Given the description of an element on the screen output the (x, y) to click on. 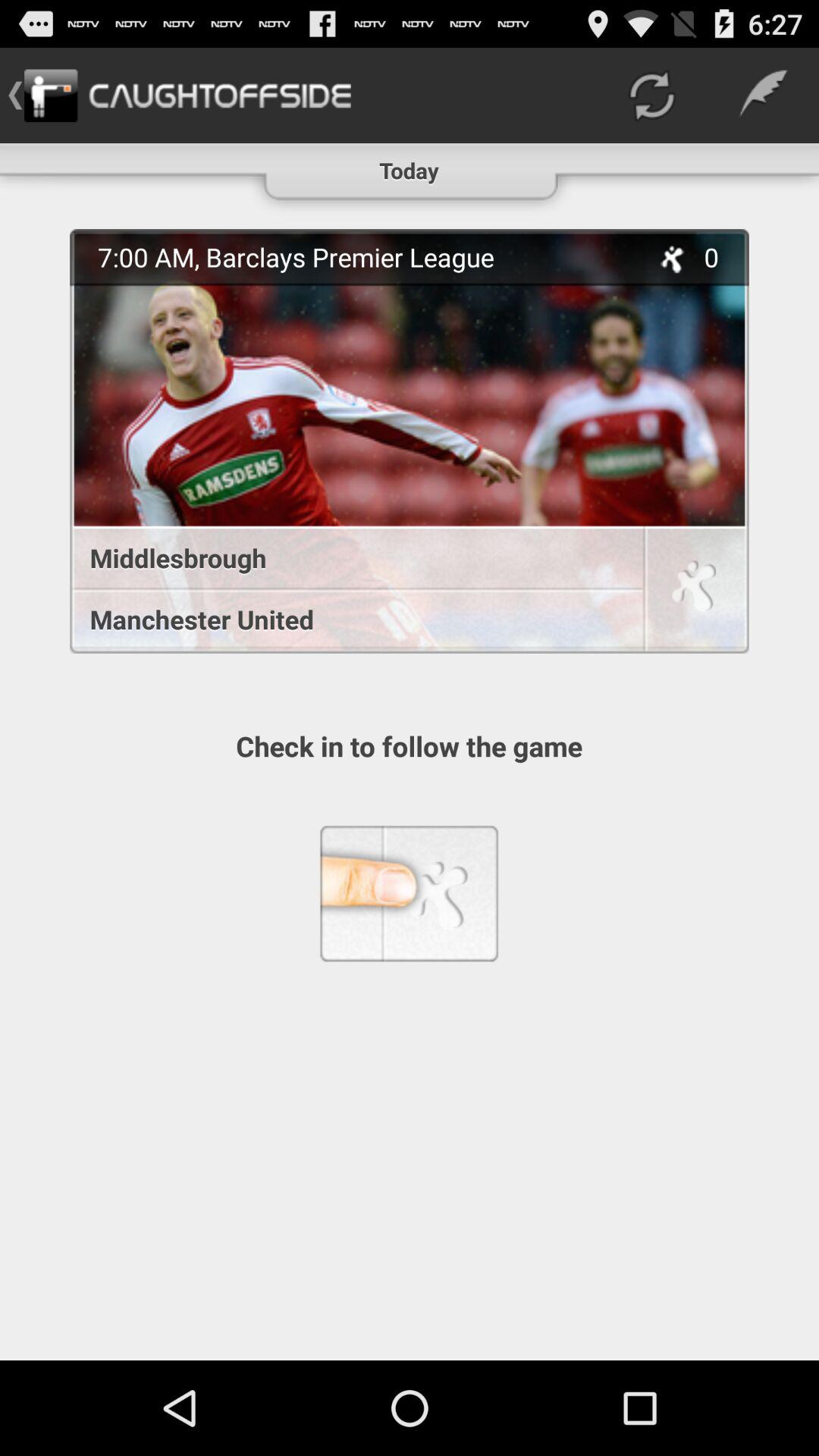
launch the manchester united app (348, 619)
